Given the description of an element on the screen output the (x, y) to click on. 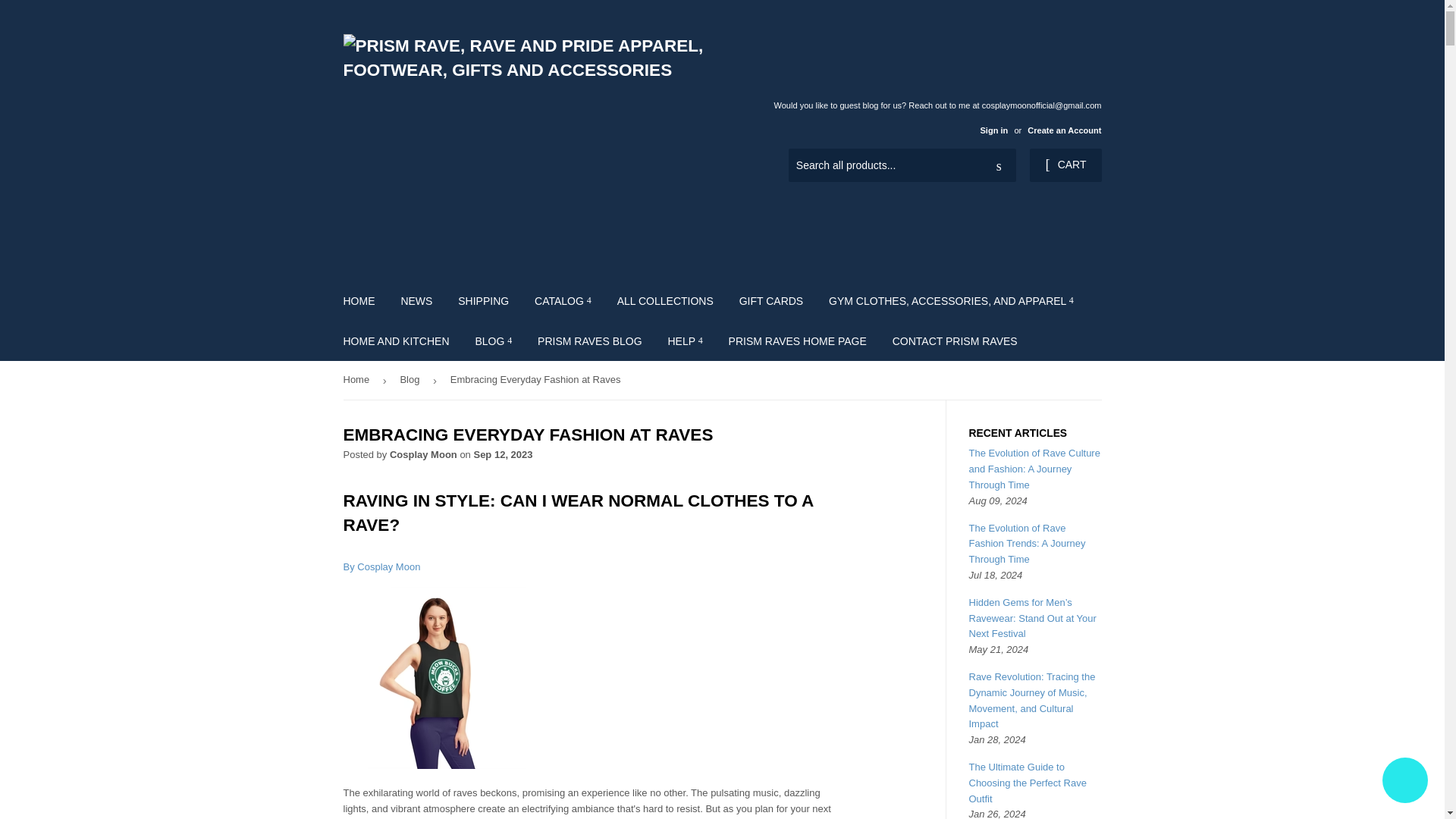
Search (998, 165)
normal clothes for a rave (433, 765)
CART (1064, 164)
Create an Account (1063, 130)
normal clothes for a rave (381, 566)
Sign in (993, 130)
